Given the description of an element on the screen output the (x, y) to click on. 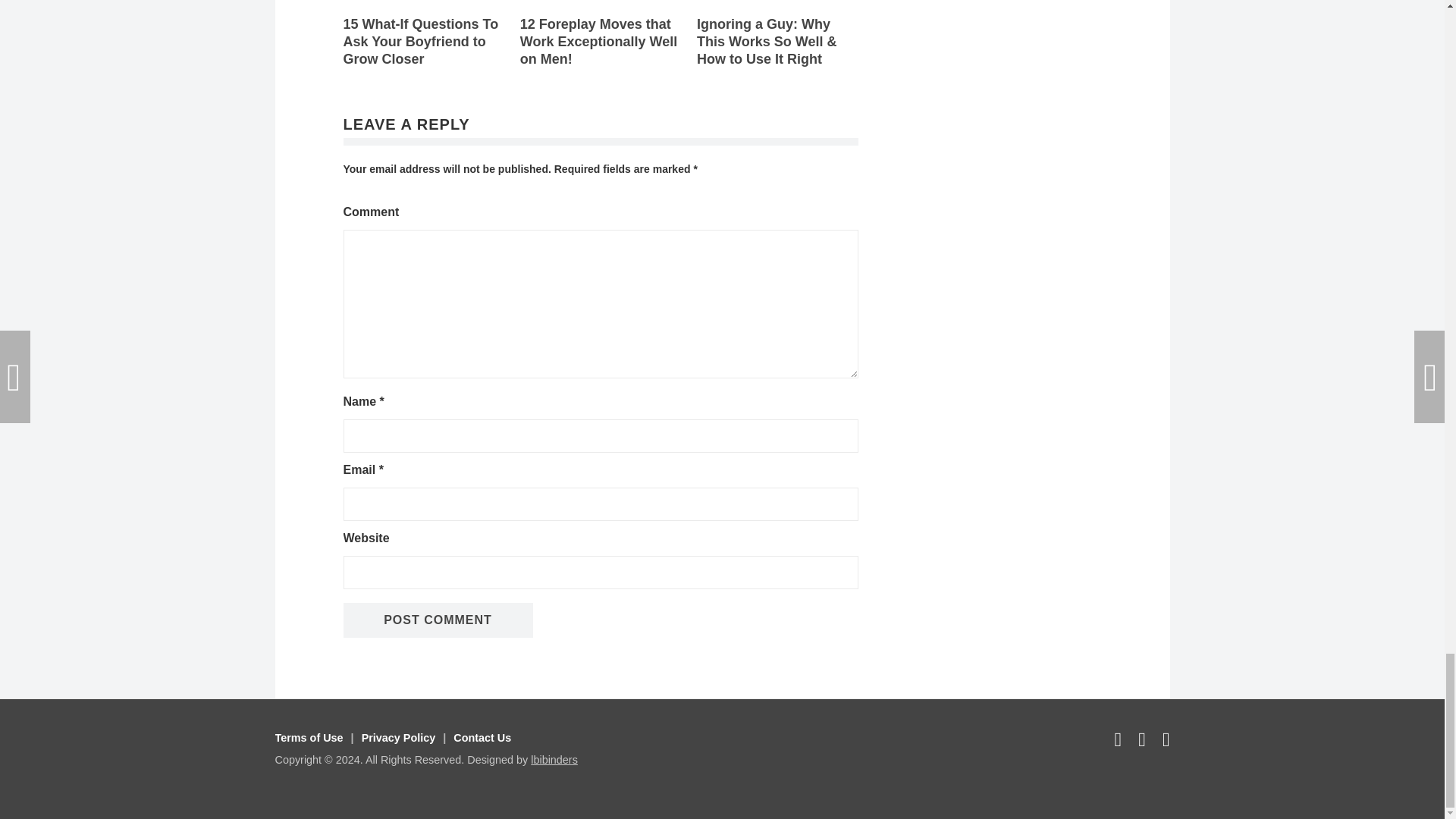
Post Comment (437, 620)
